Given the description of an element on the screen output the (x, y) to click on. 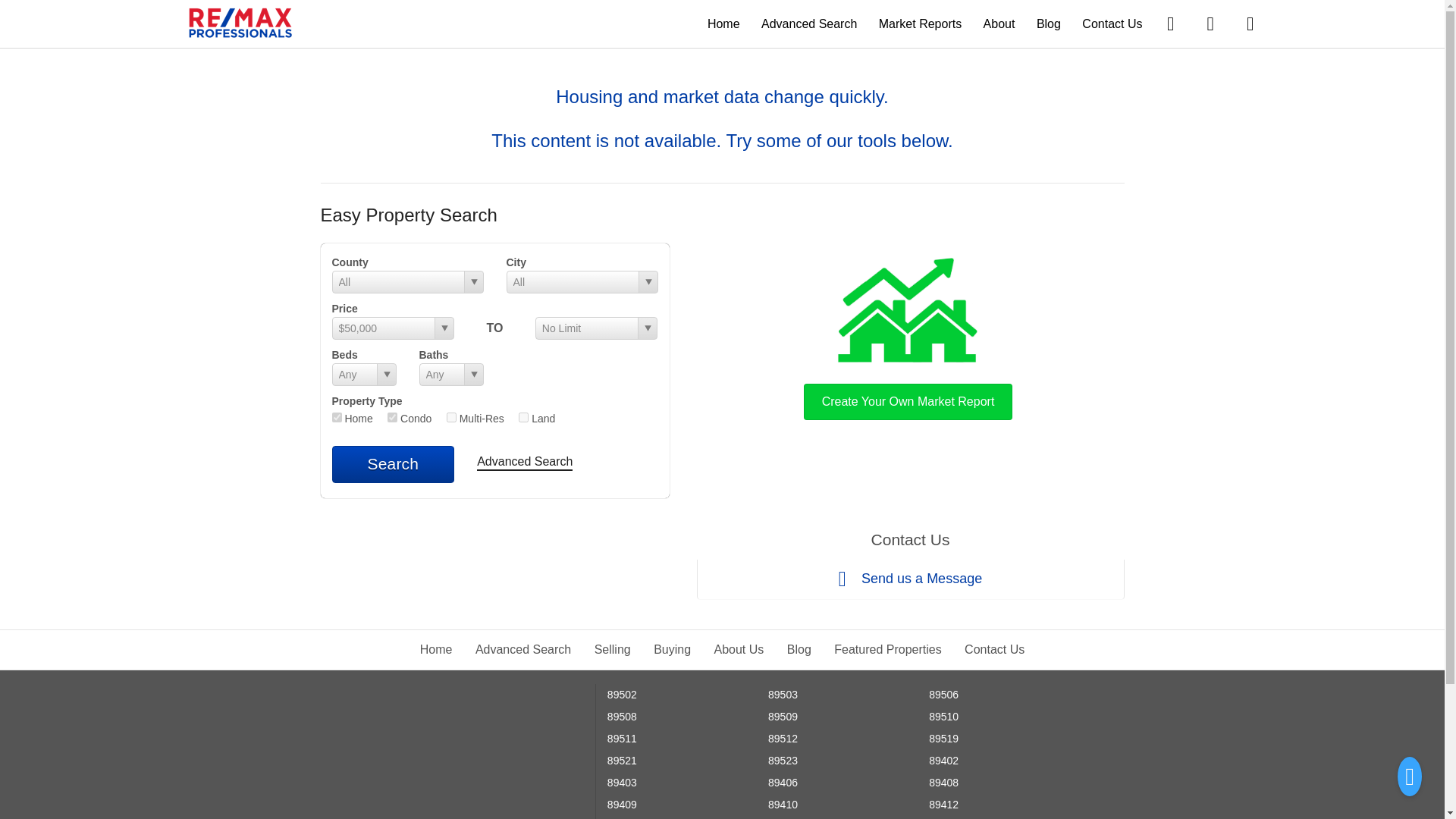
About Us (739, 649)
89512 (782, 738)
Advanced Search (523, 649)
res (336, 417)
Create Your Own Market Report (907, 335)
Market Reports (919, 23)
89506 (943, 694)
89521 (622, 760)
About (999, 23)
Blog (1048, 23)
lnd (523, 417)
89519 (943, 738)
89509 (782, 716)
Featured Properties (887, 649)
Search (392, 463)
